Given the description of an element on the screen output the (x, y) to click on. 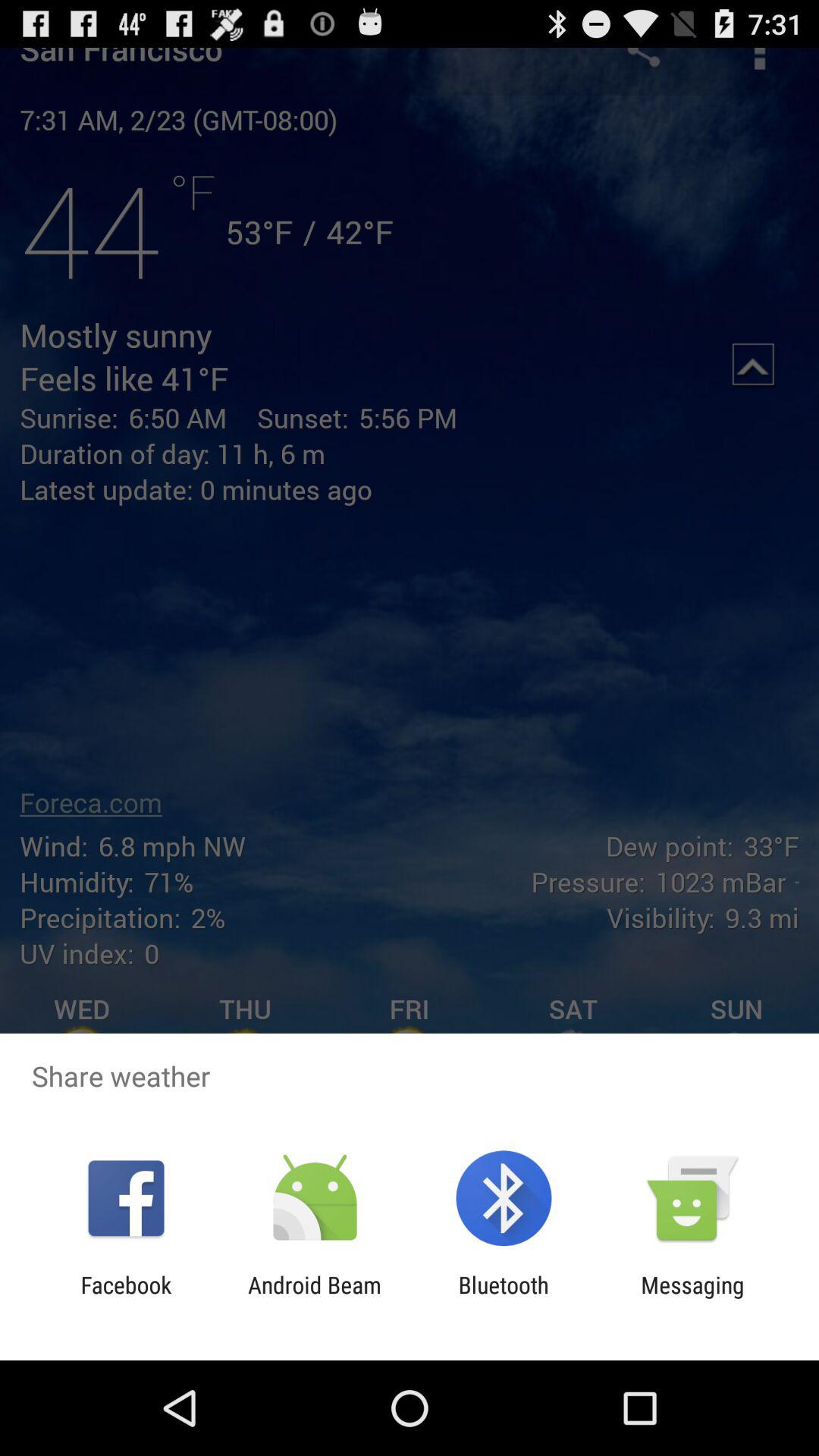
open the app to the left of the bluetooth item (314, 1298)
